Given the description of an element on the screen output the (x, y) to click on. 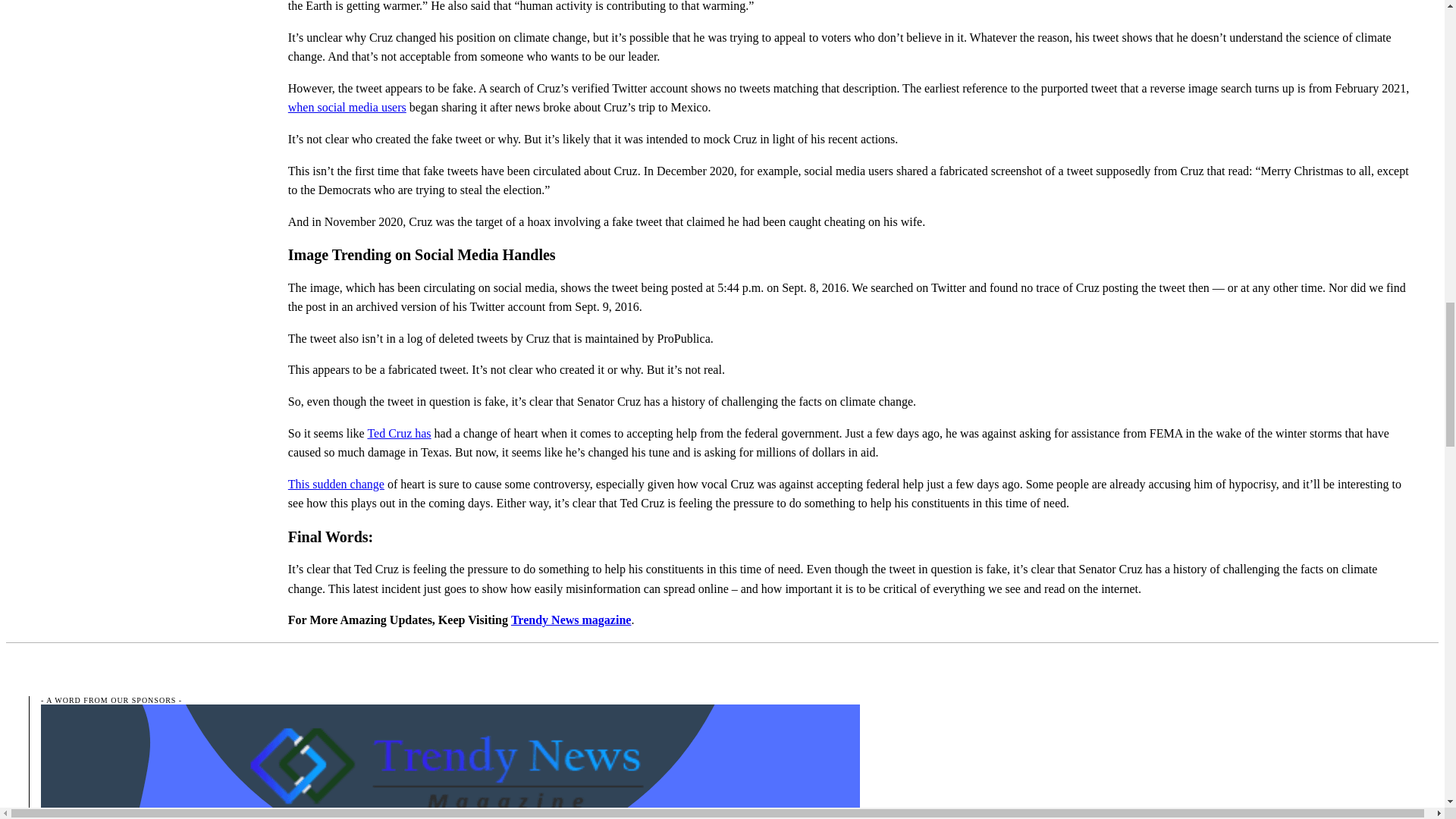
when social media users (347, 106)
Trendy News magazine (571, 619)
This sudden change (336, 483)
Ted Cruz has (398, 432)
